Given the description of an element on the screen output the (x, y) to click on. 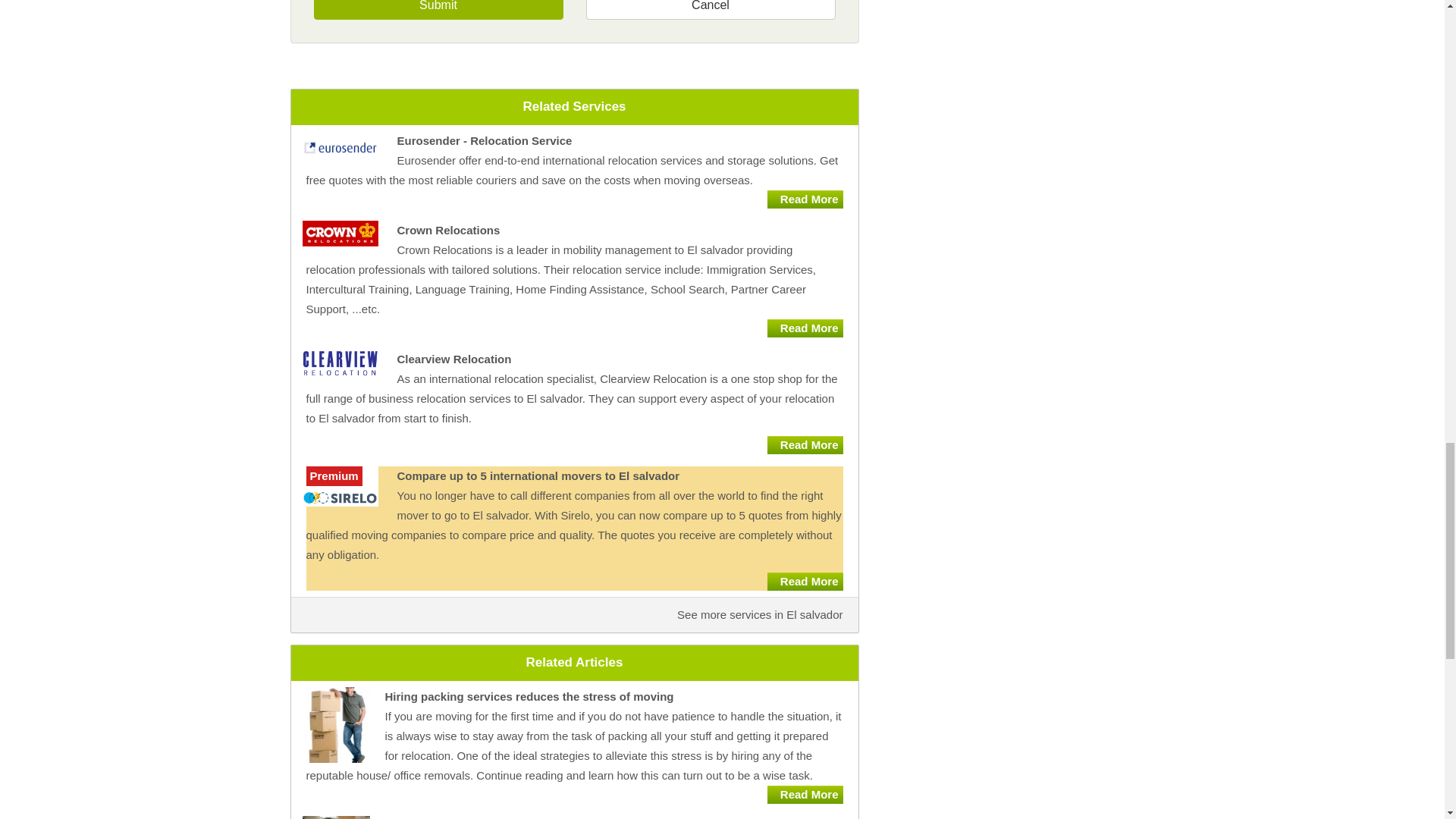
See more services in El salvador (760, 614)
Cancel (709, 9)
Submit (438, 9)
Submit (438, 9)
